Given the description of an element on the screen output the (x, y) to click on. 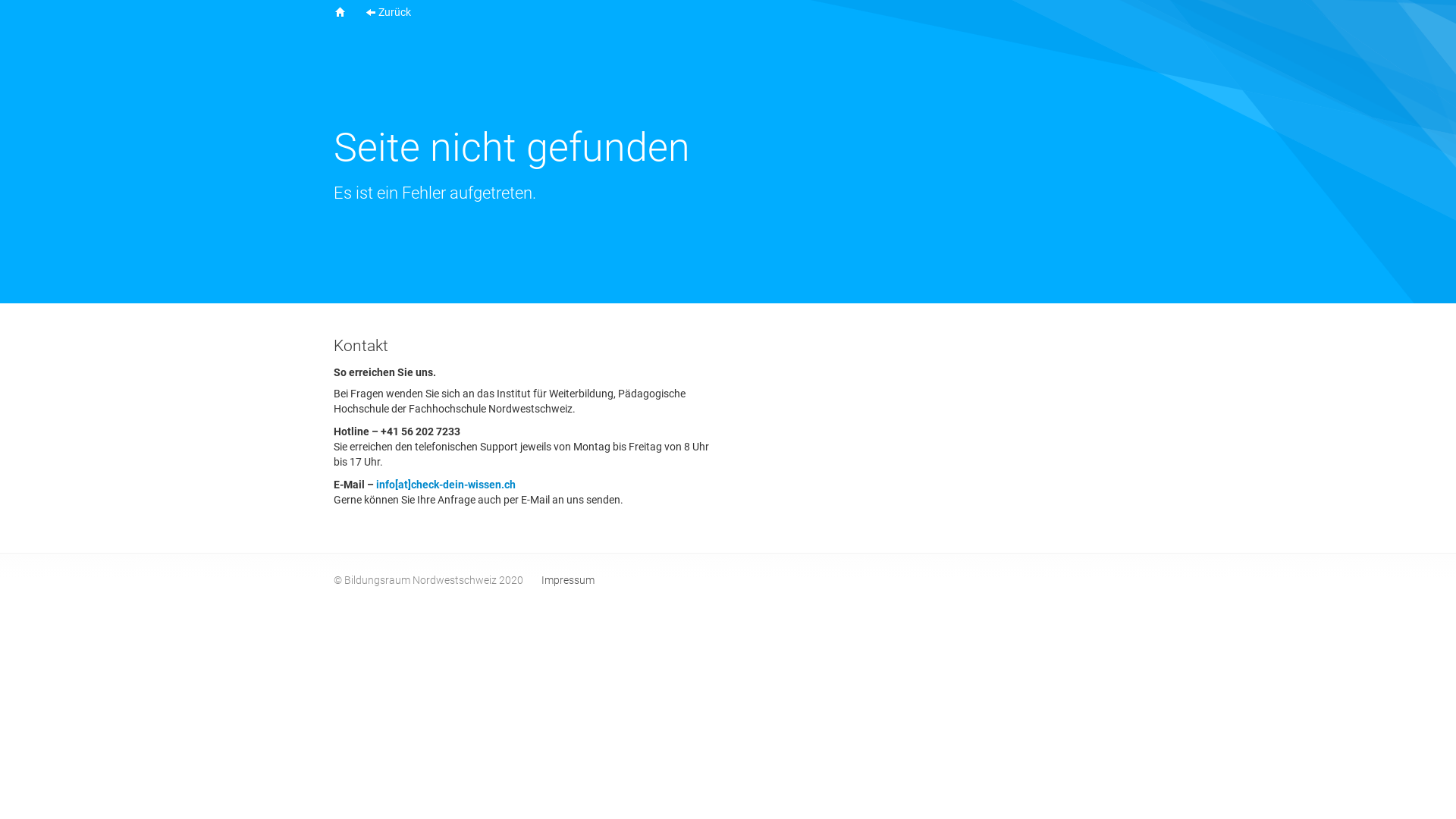
info[at]check-dein-wissen.ch Element type: text (445, 484)
Impressum Element type: text (567, 579)
